Given the description of an element on the screen output the (x, y) to click on. 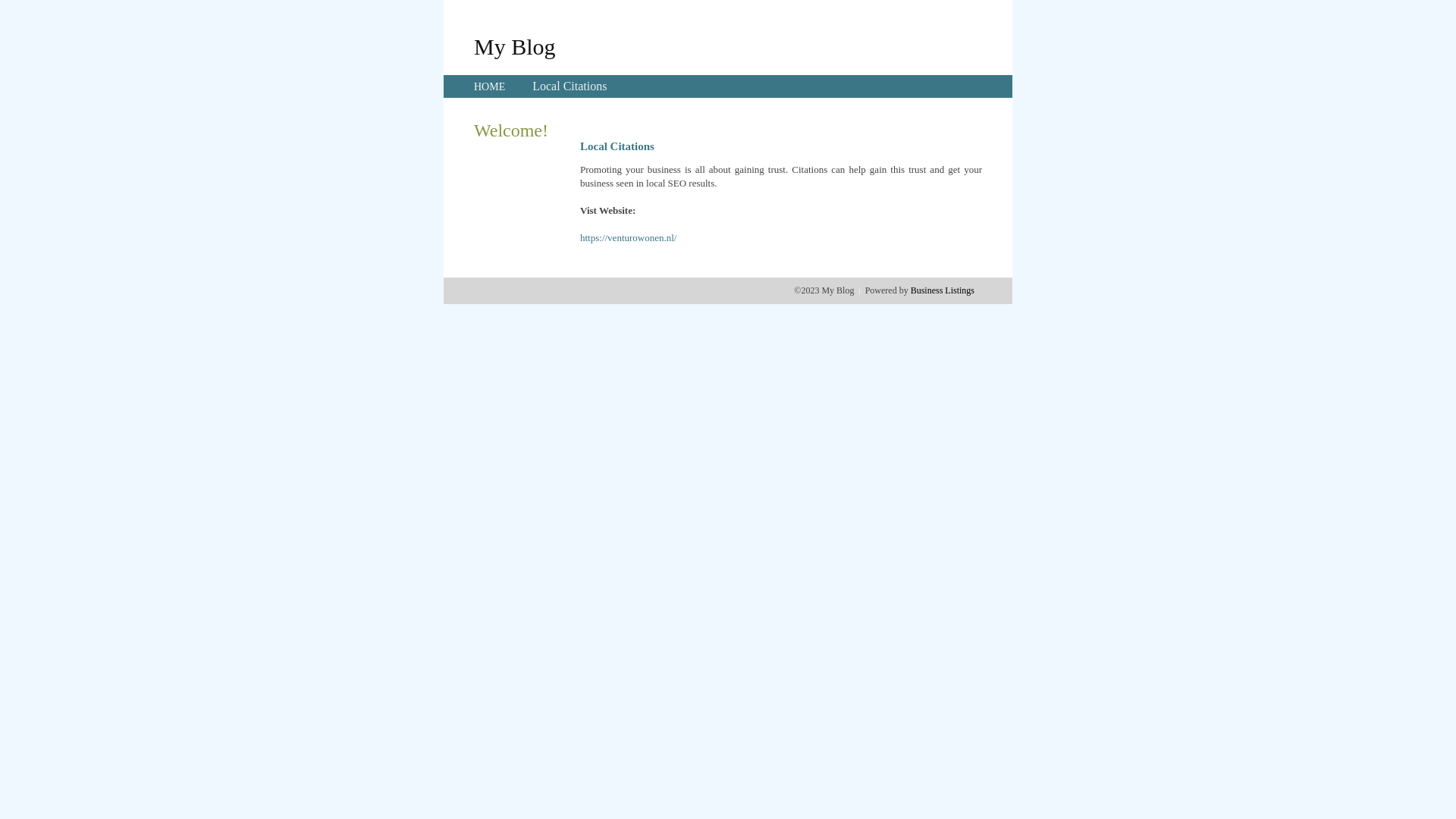
Business Listings Element type: text (942, 290)
https://venturowonen.nl/ Element type: text (628, 237)
Local Citations Element type: text (569, 85)
HOME Element type: text (489, 86)
My Blog Element type: text (514, 46)
